Given the description of an element on the screen output the (x, y) to click on. 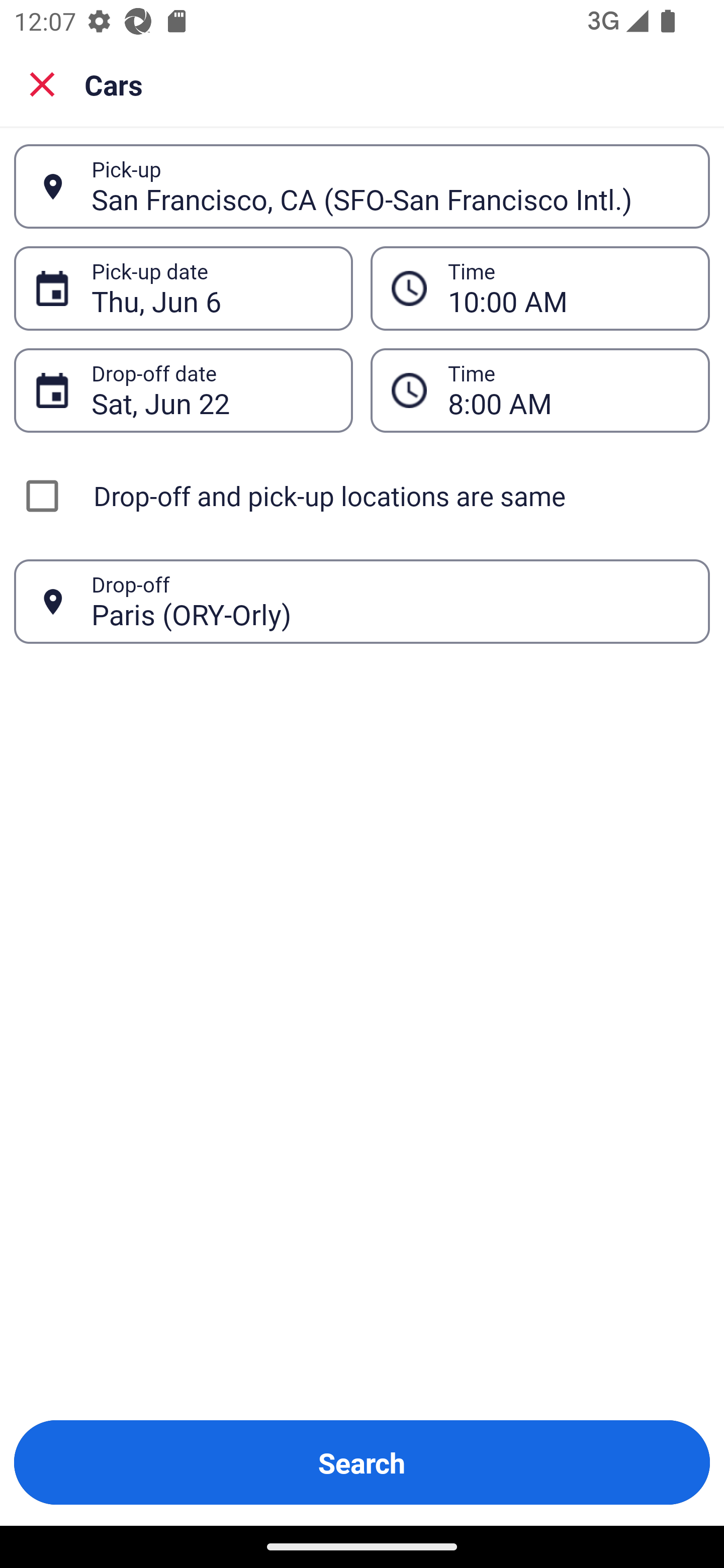
Close search screen (42, 84)
San Francisco, CA (SFO-San Francisco Intl.) (389, 186)
Thu, Jun 6 (211, 288)
10:00 AM (568, 288)
Sat, Jun 22 (211, 390)
8:00 AM (568, 390)
Drop-off and pick-up locations are same (361, 495)
Paris (ORY-Orly) (389, 601)
Search Button Search (361, 1462)
